Given the description of an element on the screen output the (x, y) to click on. 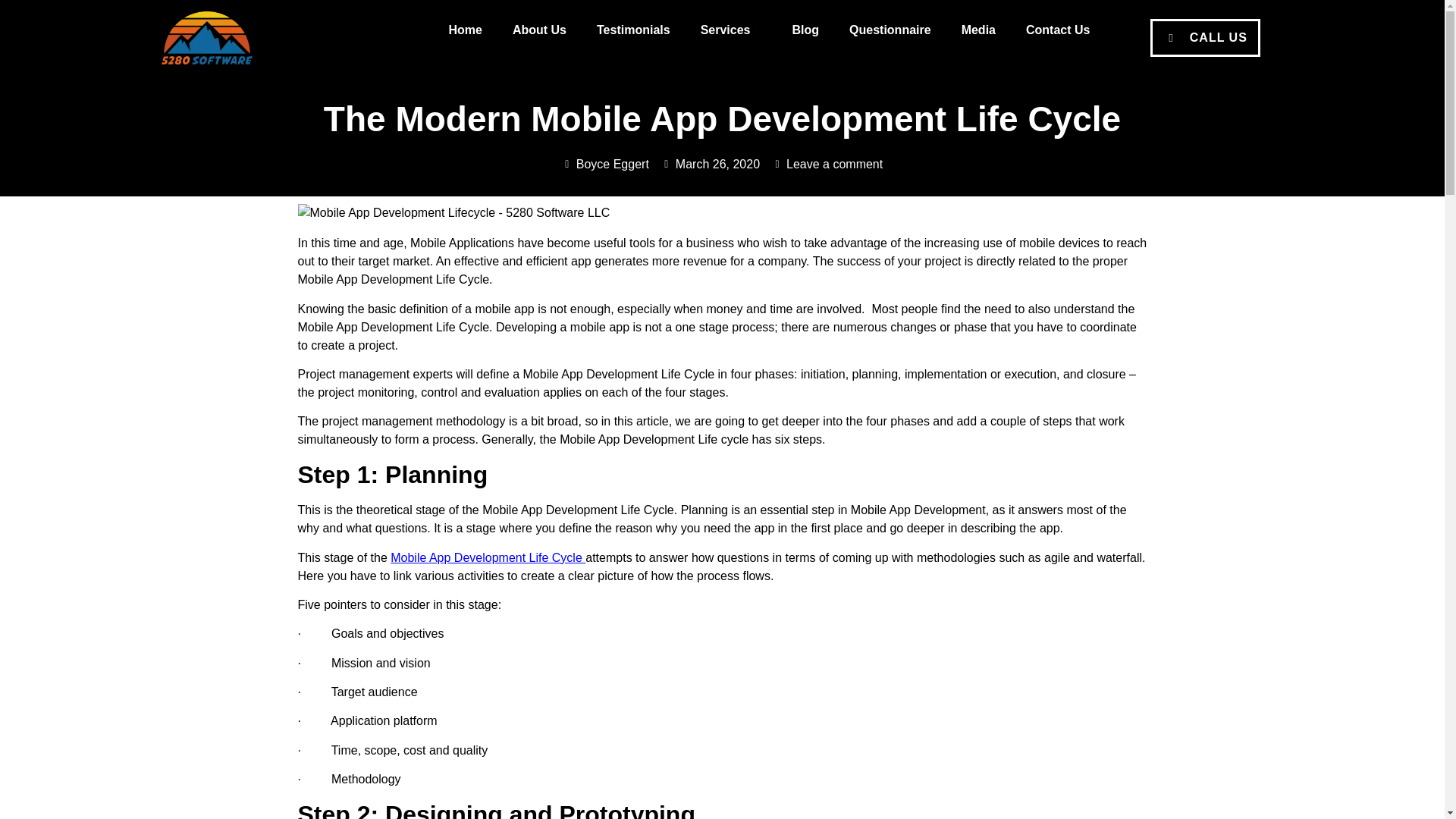
About Us (538, 30)
Blog (805, 30)
Home (464, 30)
Services (731, 30)
Questionnaire (890, 30)
Testimonials (632, 30)
